Given the description of an element on the screen output the (x, y) to click on. 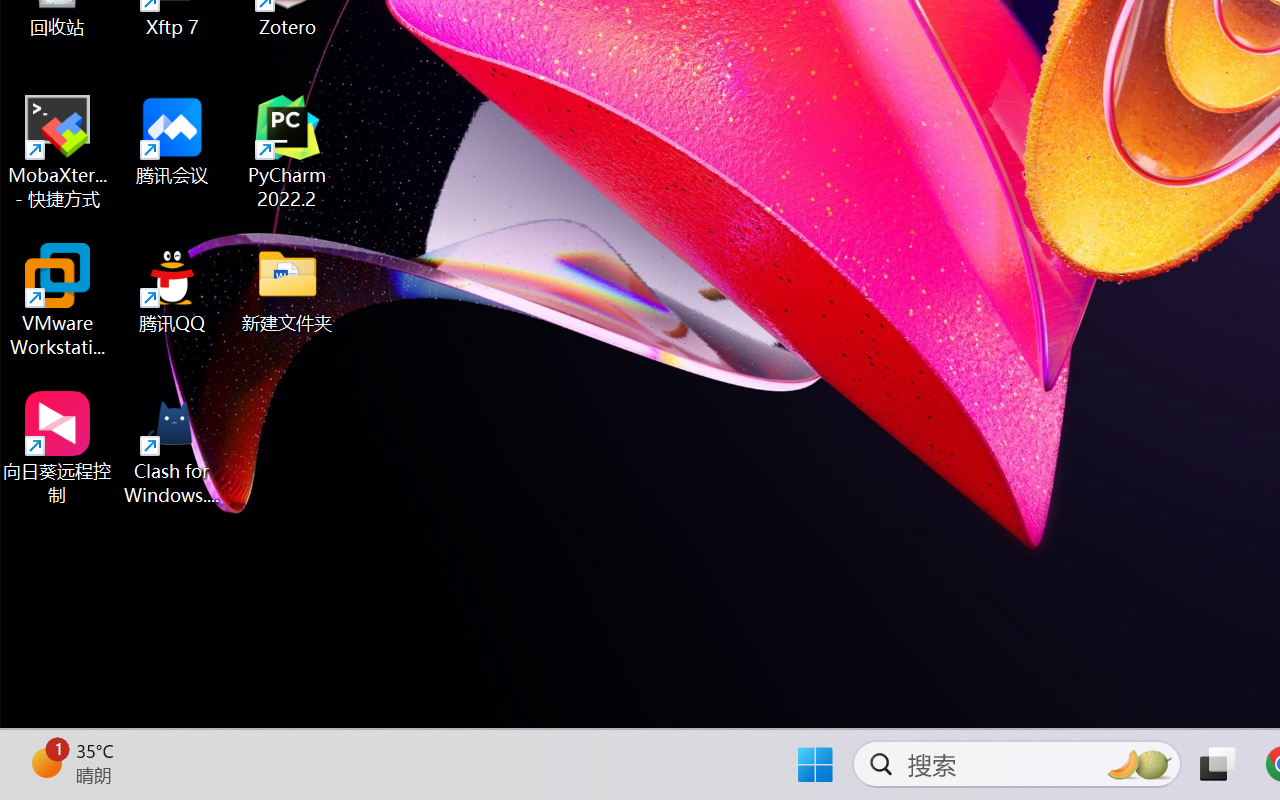
PyCharm 2022.2 (287, 152)
